Given the description of an element on the screen output the (x, y) to click on. 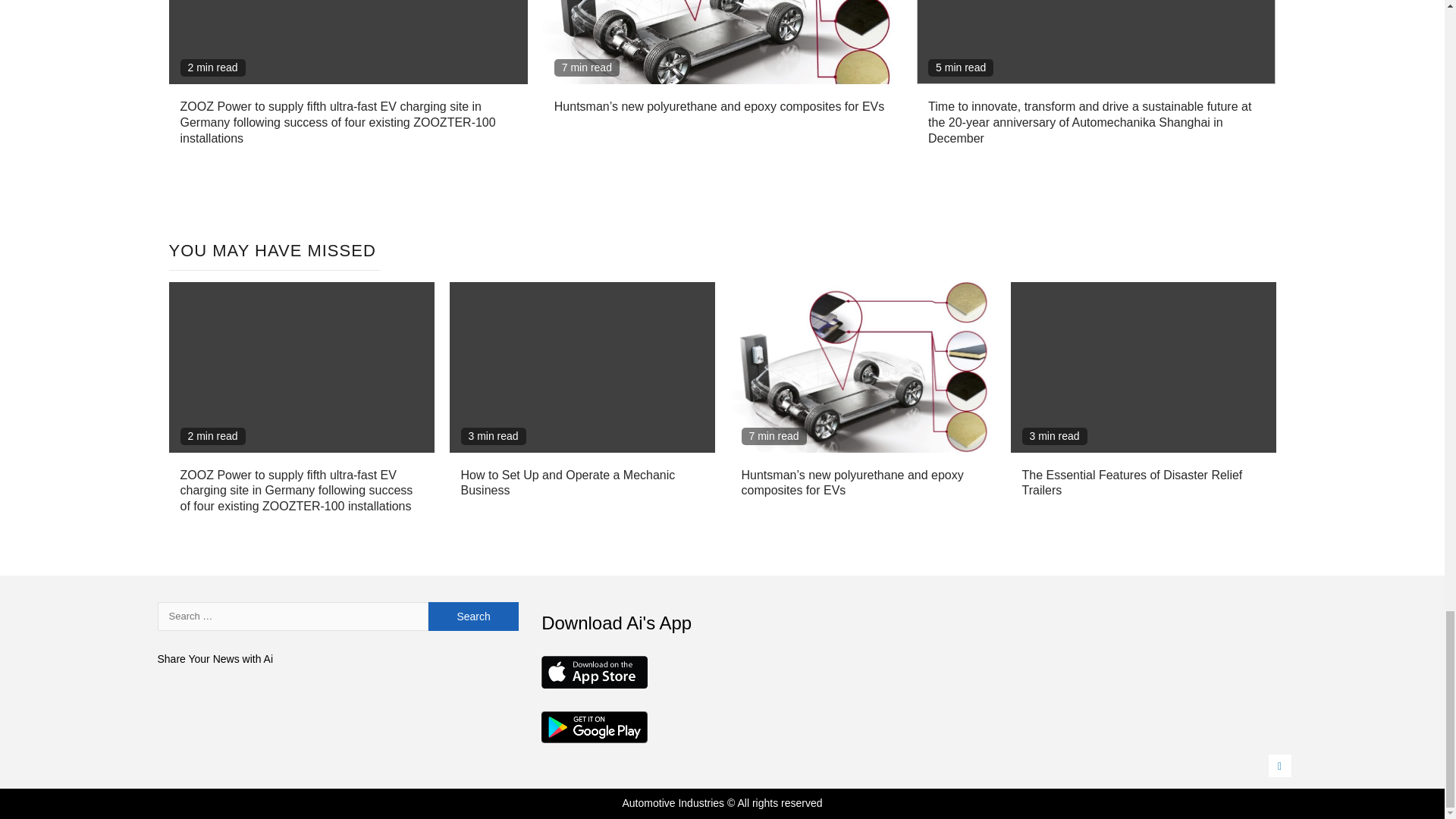
Search (473, 615)
Search (473, 615)
